Given the description of an element on the screen output the (x, y) to click on. 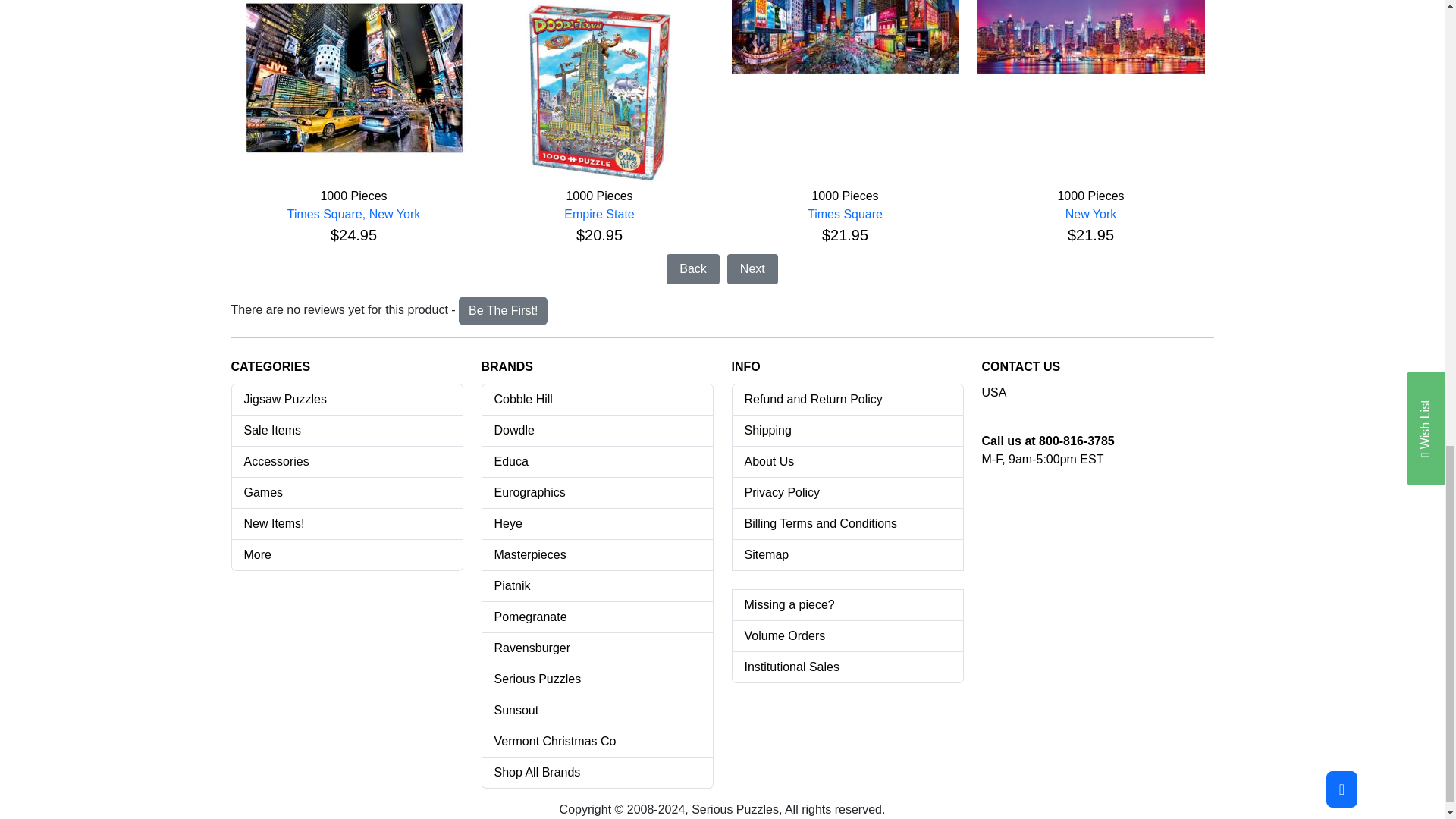
Times Square New York Panoramic Puzzle By MasterPieces (844, 36)
Times Square, New York New York Jigsaw Puzzle By Educa (353, 78)
New York New York Panoramic Puzzle By MasterPieces (1090, 36)
